Given the description of an element on the screen output the (x, y) to click on. 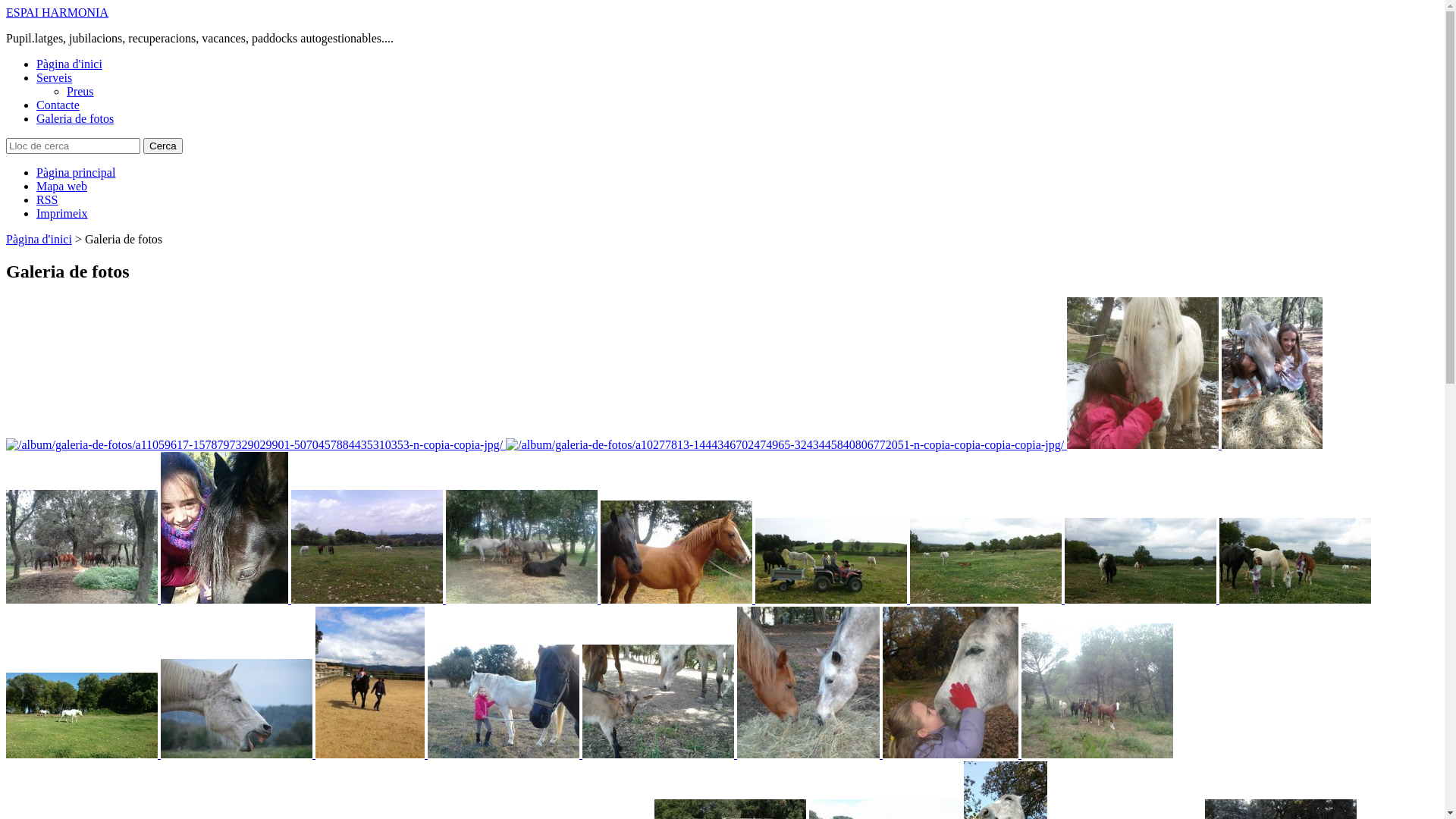
Preus Element type: text (80, 90)
Galeria de fotos Element type: text (74, 118)
Mapa web Element type: text (61, 185)
Serveis Element type: text (54, 77)
ESPAI HARMONIA Element type: text (57, 12)
Cerca Element type: text (162, 145)
RSS Element type: text (46, 199)
Contacte Element type: text (57, 104)
Imprimeix Element type: text (61, 213)
